Given the description of an element on the screen output the (x, y) to click on. 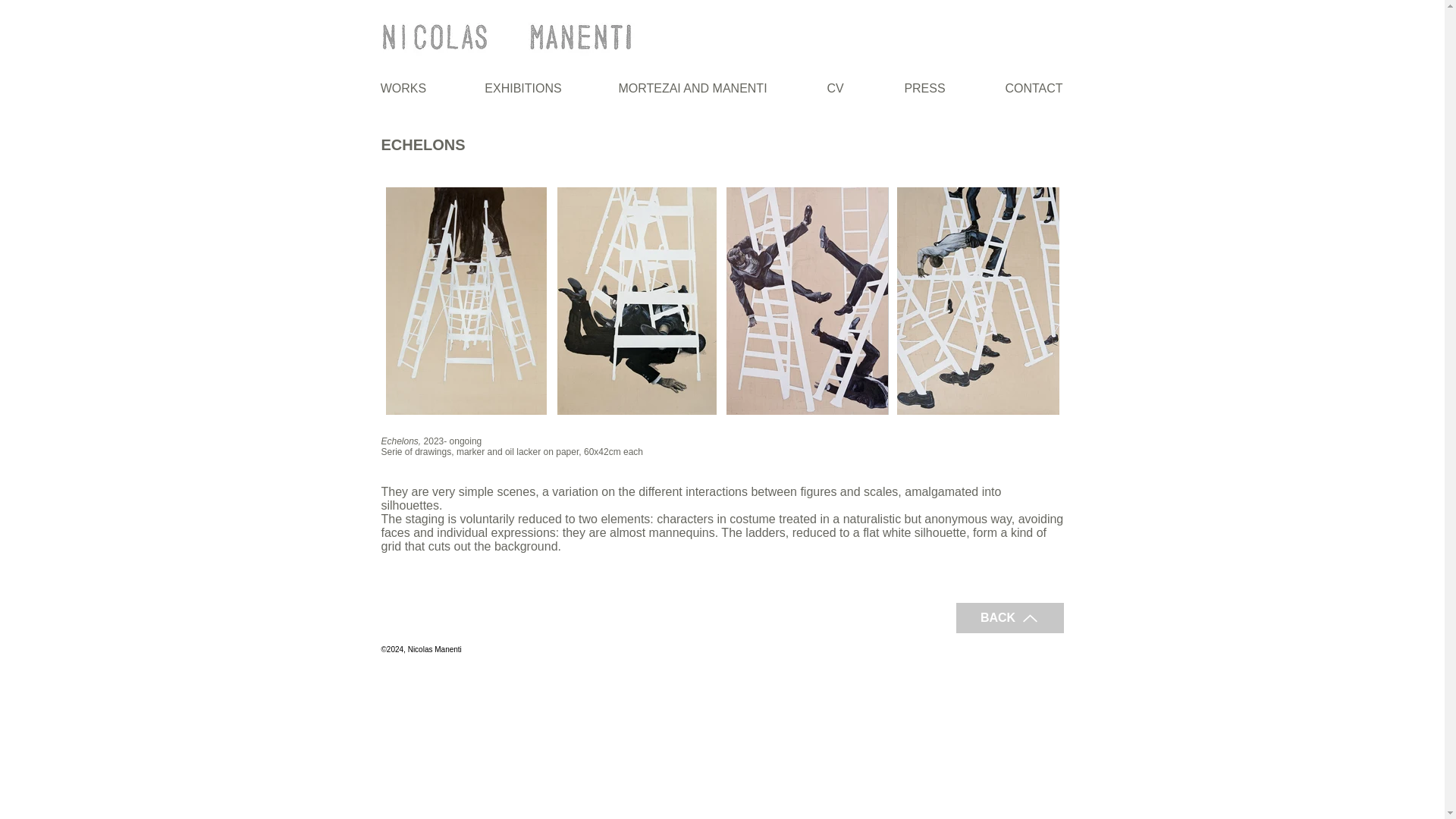
CONTACT (1033, 88)
BACK (1008, 617)
CV (834, 88)
